Given the description of an element on the screen output the (x, y) to click on. 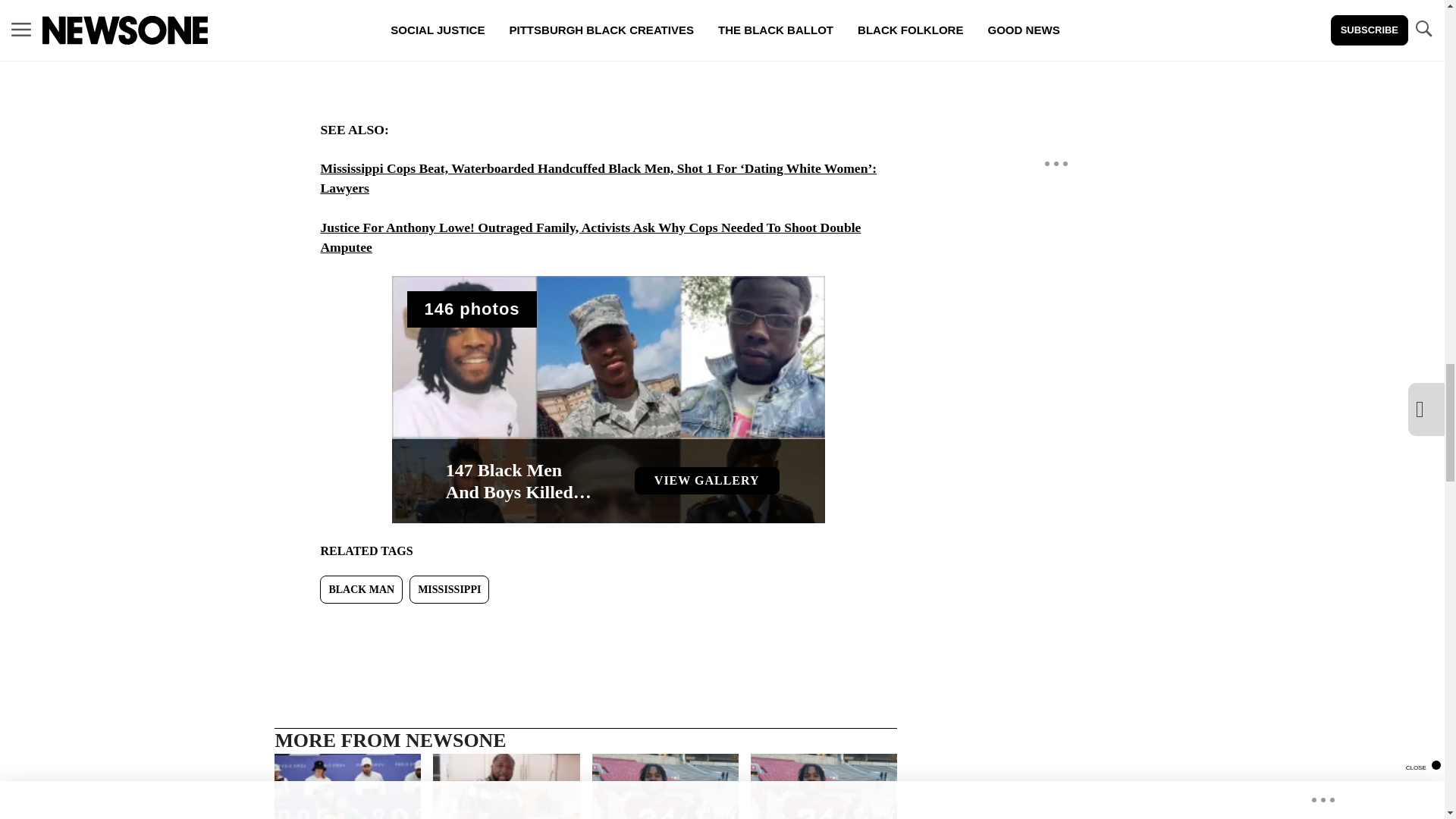
Media Playlist (471, 309)
Vuukle Sharebar Widget (585, 627)
BLACK MAN (607, 399)
Chef Jernard Wells and Feeding America Team Up To End Hunger (361, 589)
MISSISSIPPI (505, 786)
